Given the description of an element on the screen output the (x, y) to click on. 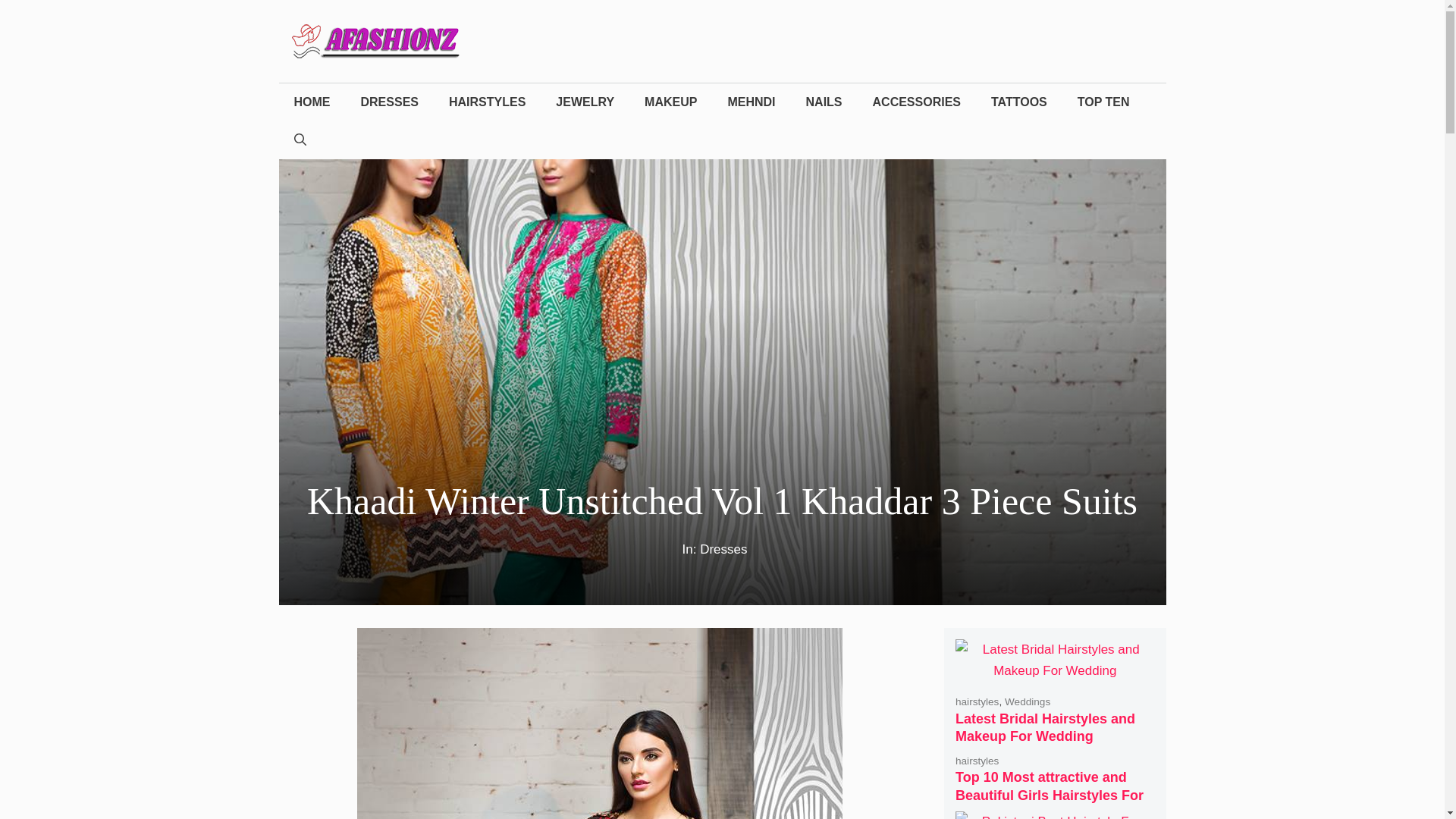
HOME (312, 102)
JEWELRY (584, 102)
DRESSES (389, 102)
ACCESSORIES (916, 102)
NAILS (823, 102)
TOP TEN (1103, 102)
HAIRSTYLES (486, 102)
TATTOOS (1018, 102)
MEHNDI (750, 102)
MAKEUP (669, 102)
